Given the description of an element on the screen output the (x, y) to click on. 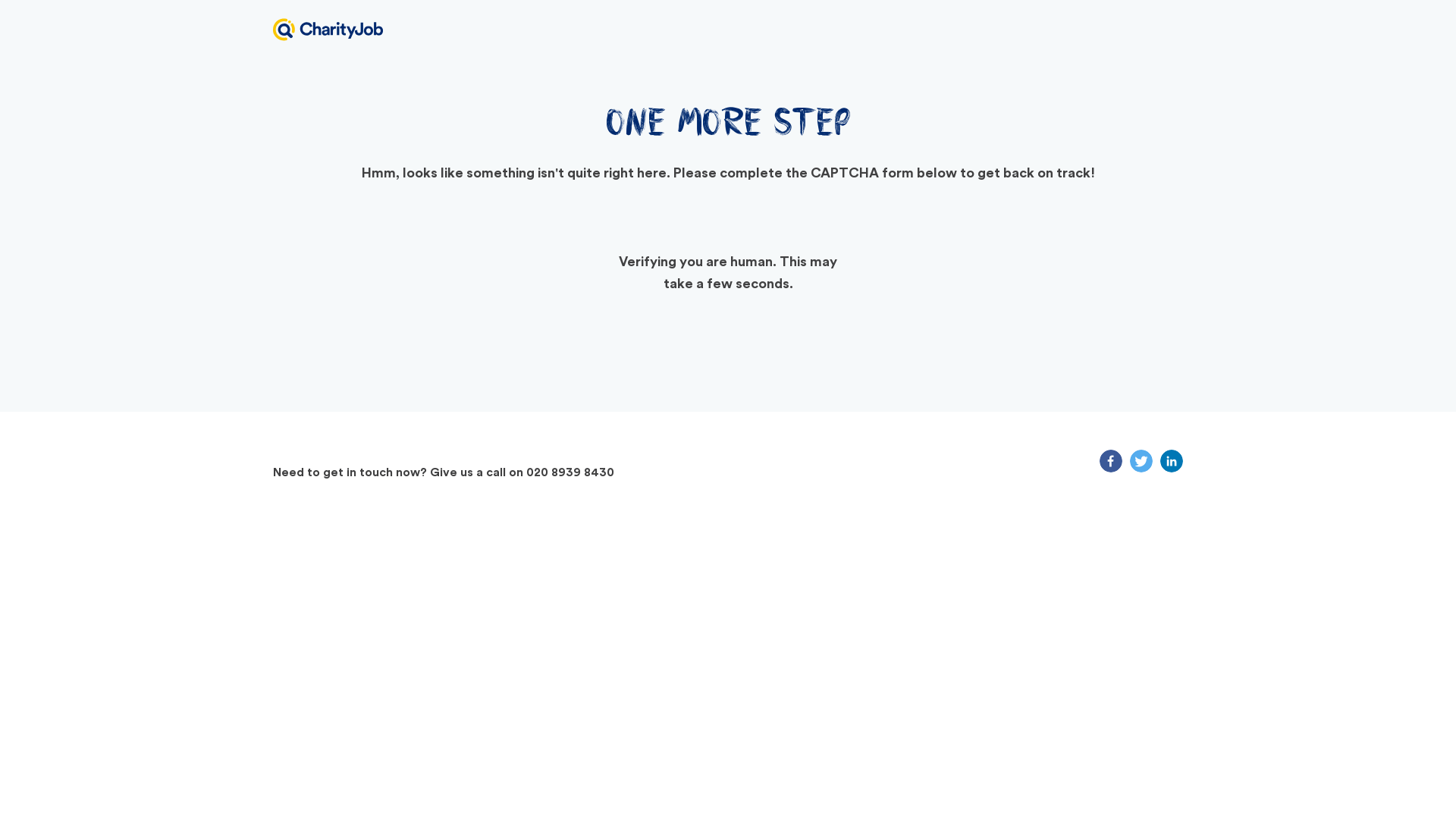
Twitter (1141, 460)
Facebook (1110, 460)
020 8939 8430 (569, 472)
LinkedIn (1171, 460)
CharityJob (327, 29)
